Given the description of an element on the screen output the (x, y) to click on. 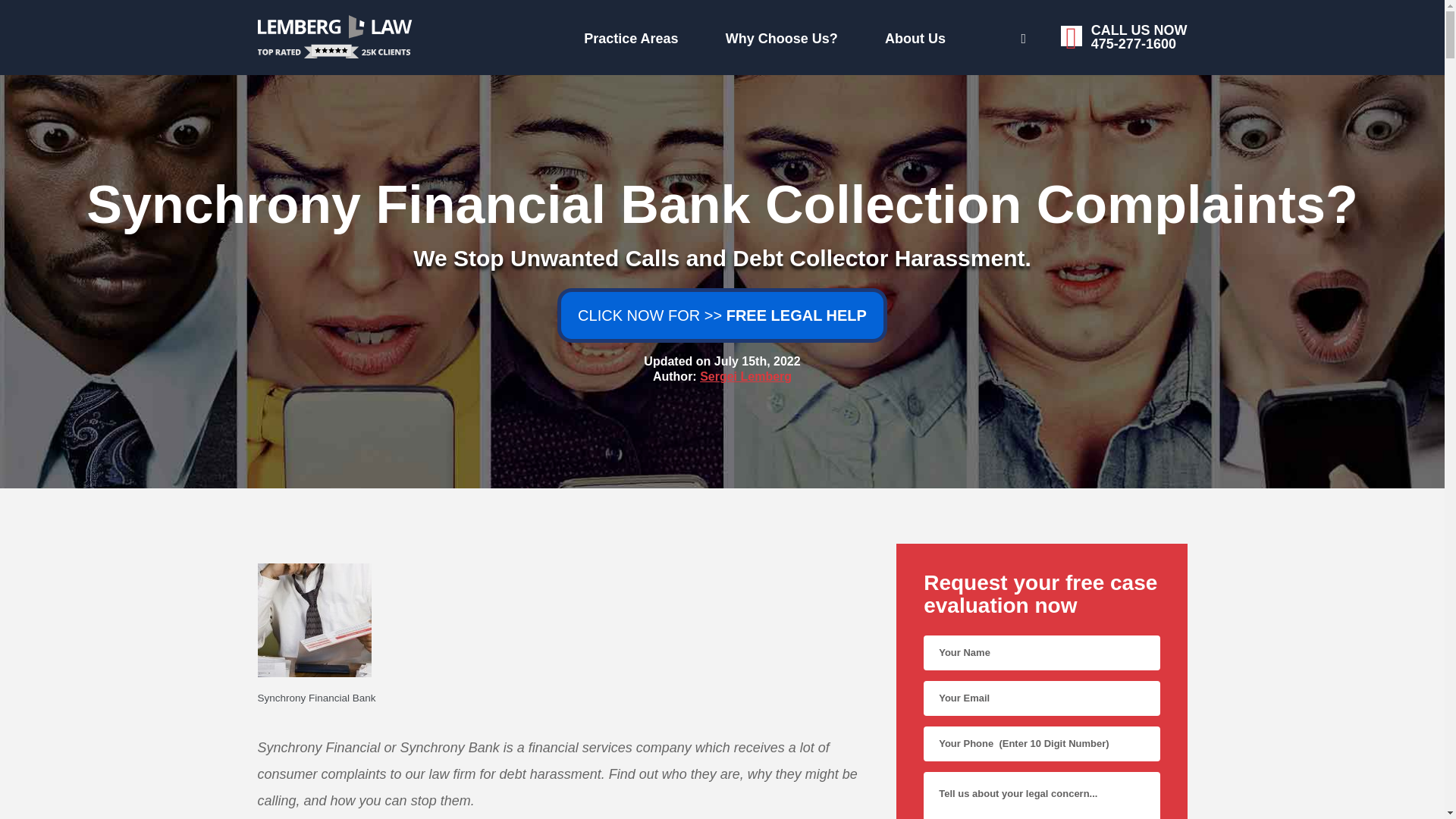
Sergei Lemberg (746, 376)
Why Choose Us? (627, 35)
Synchrony Financial Bank (563, 698)
Practice Areas (968, 35)
About Us (475, 35)
